Given the description of an element on the screen output the (x, y) to click on. 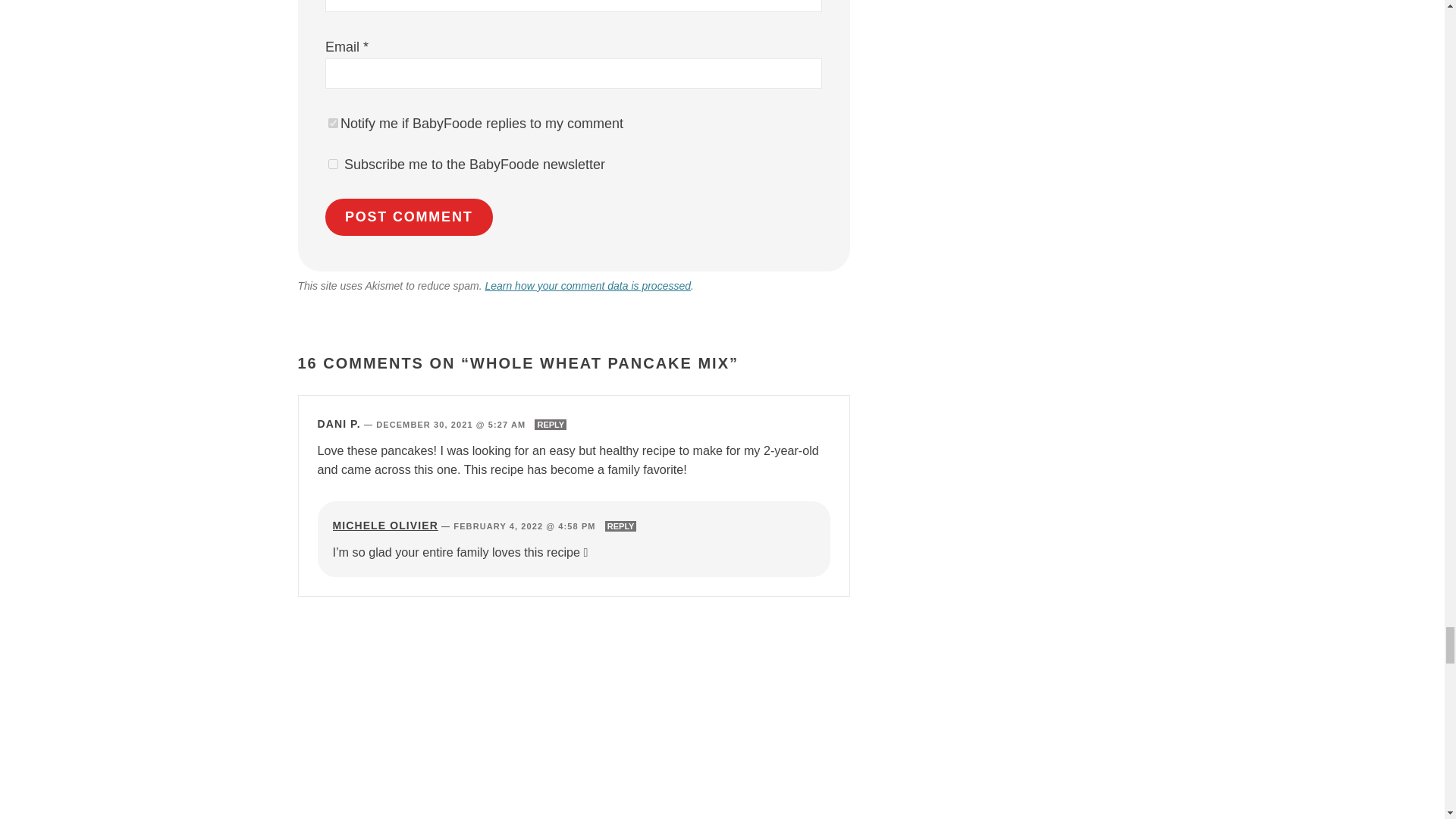
on (333, 122)
Post Comment (408, 217)
1 (333, 163)
